Given the description of an element on the screen output the (x, y) to click on. 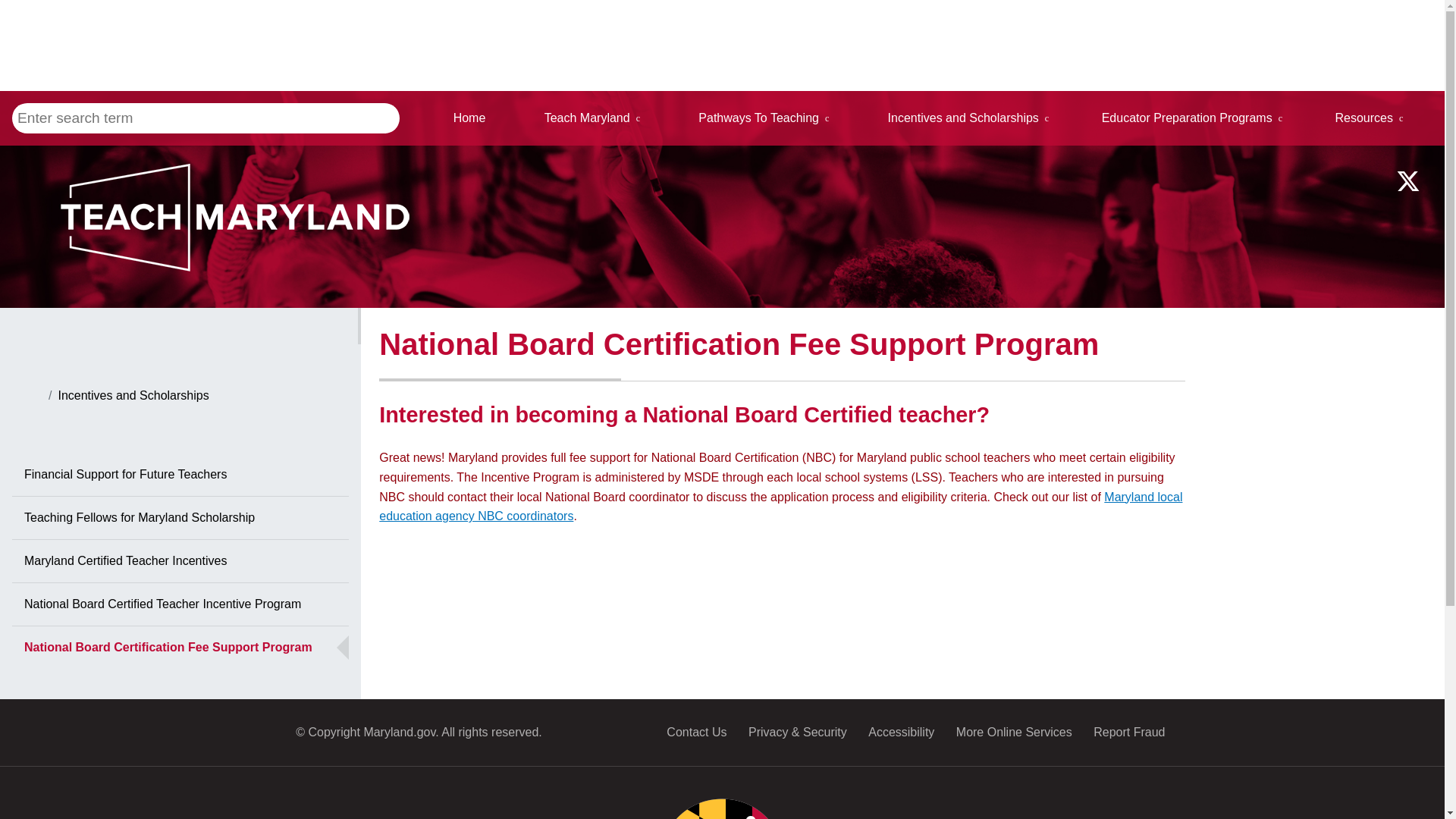
Resources (1369, 118)
Teach Maryland (592, 118)
Home (469, 118)
Educator Preparation Programs (1192, 118)
Pathways To Teaching (764, 118)
Skip to Content (12, 57)
Incentives and Scholarships (968, 118)
Search (360, 117)
